Given the description of an element on the screen output the (x, y) to click on. 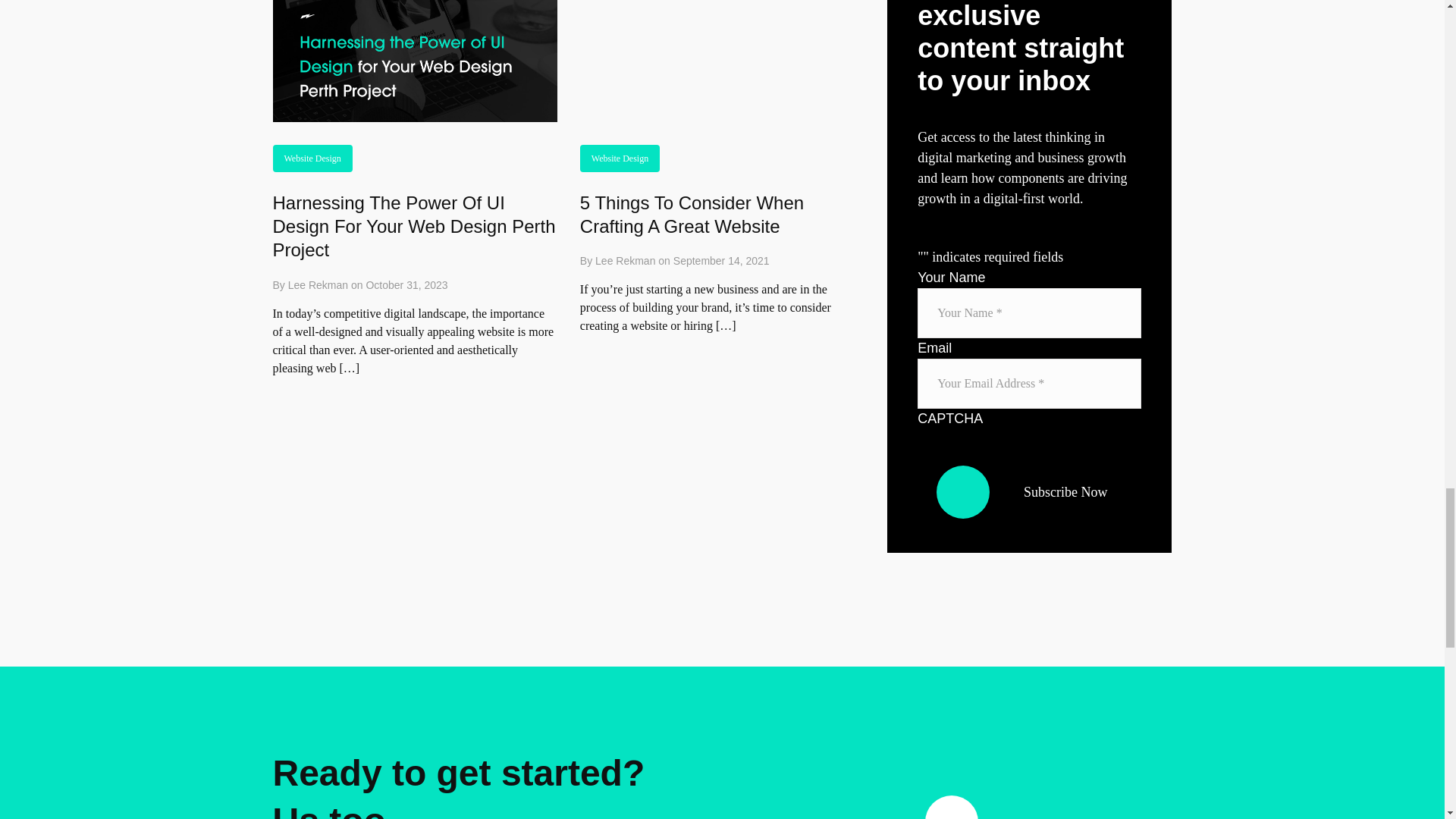
5 Things to Consider When Crafting a Great Website (691, 214)
5 Things To Consider When Crafting A Great Website (691, 214)
Get A Free Quote (1023, 807)
Subscribe Now (1029, 492)
